Given the description of an element on the screen output the (x, y) to click on. 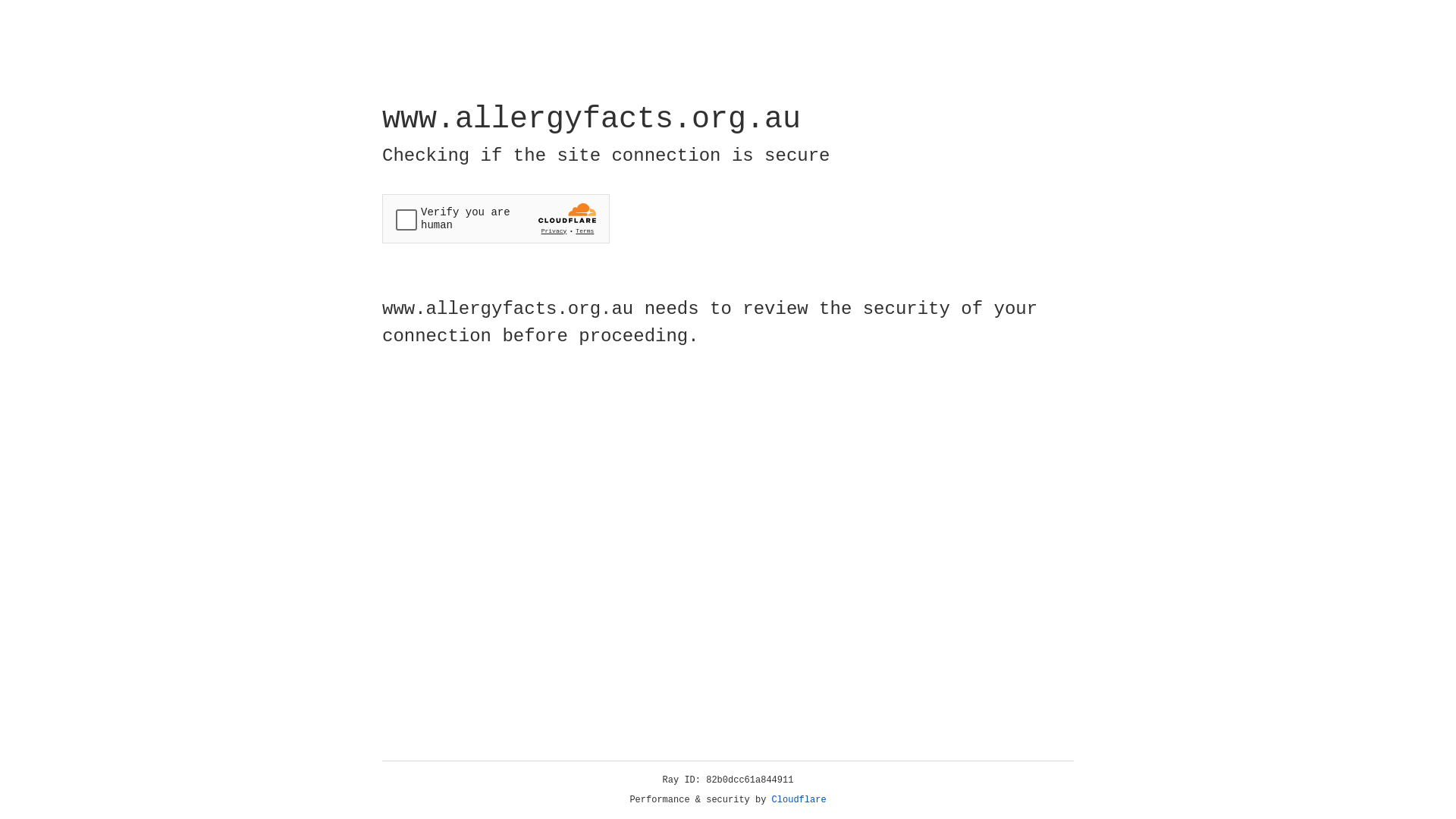
Cloudflare Element type: text (798, 799)
Widget containing a Cloudflare security challenge Element type: hover (495, 218)
